Given the description of an element on the screen output the (x, y) to click on. 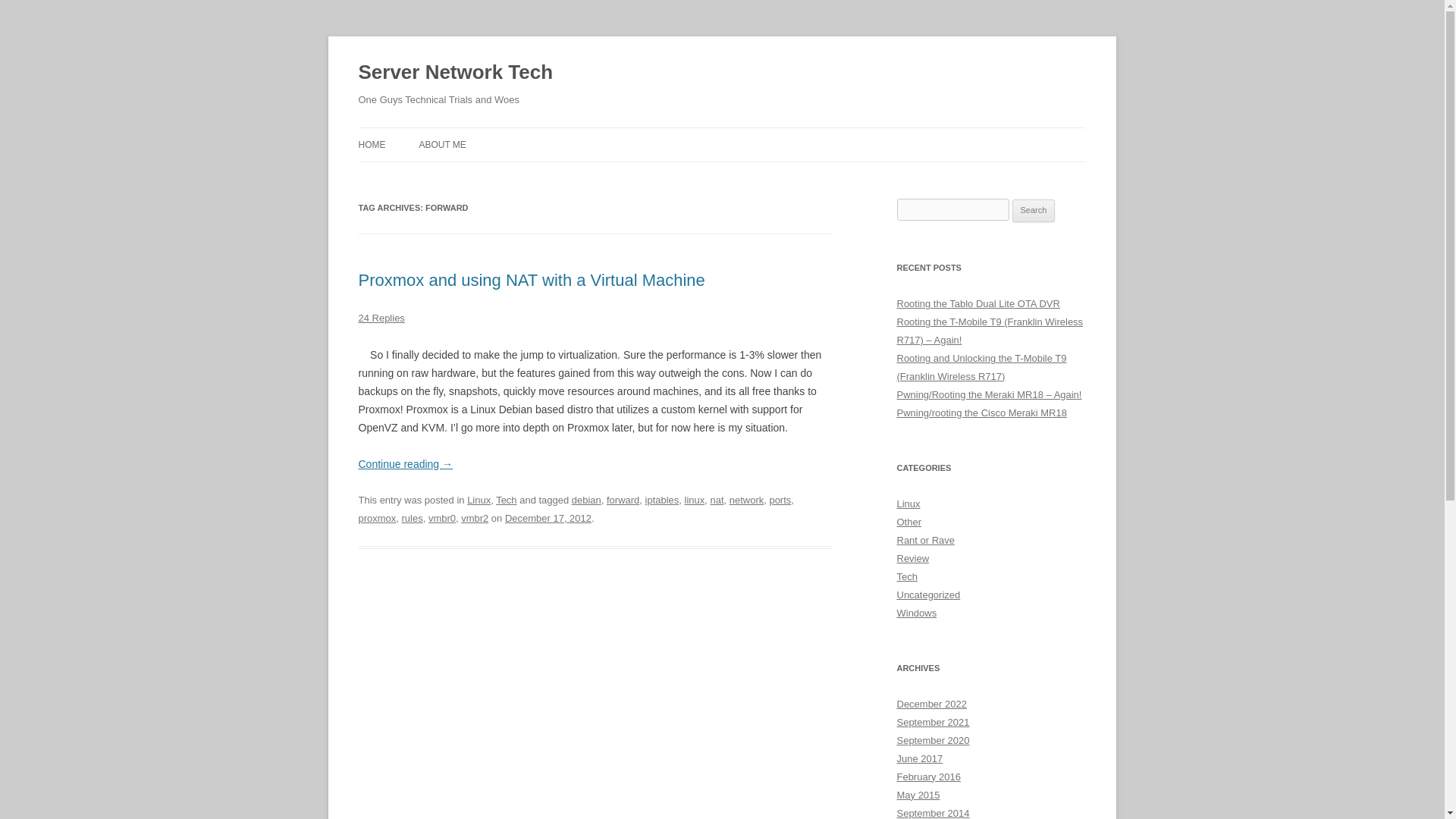
June 2017 (919, 758)
Server Network Tech (455, 72)
September 2020 (932, 740)
forward (623, 500)
Rooting the Tablo Dual Lite OTA DVR (977, 303)
Search (1033, 210)
September 2021 (932, 722)
proxmox (377, 518)
December 2022 (931, 704)
vmbr0 (441, 518)
Review (912, 558)
Windows (916, 613)
ports (779, 500)
rules (412, 518)
ABOUT ME (442, 144)
